Given the description of an element on the screen output the (x, y) to click on. 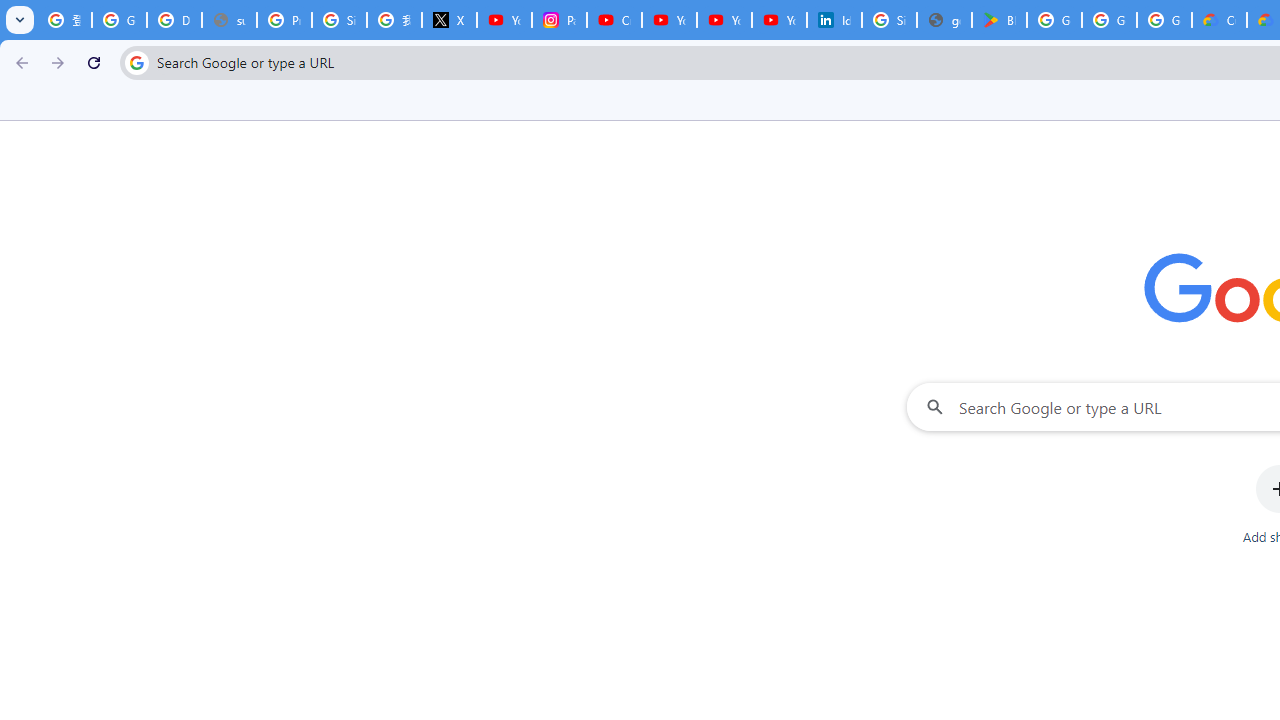
support.google.com - Network error (229, 20)
Bluey: Let's Play! - Apps on Google Play (998, 20)
YouTube Culture & Trends - YouTube Top 10, 2021 (724, 20)
YouTube Content Monetization Policies - How YouTube Works (504, 20)
YouTube Culture & Trends - YouTube Top 10, 2021 (779, 20)
google_privacy_policy_en.pdf (943, 20)
Google Workspace - Specific Terms (1163, 20)
X (449, 20)
